Given the description of an element on the screen output the (x, y) to click on. 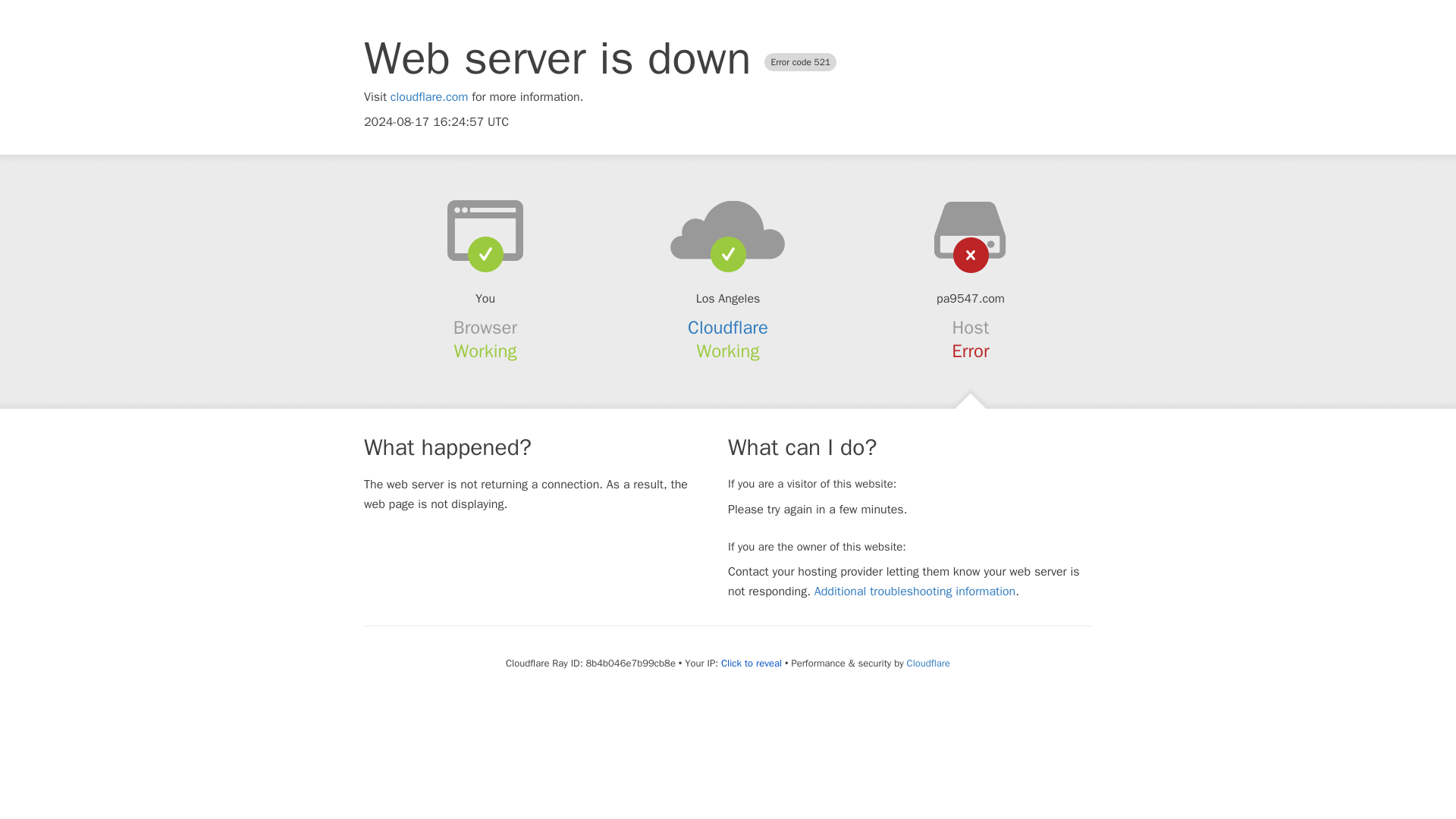
Click to reveal (750, 663)
Cloudflare (727, 327)
Additional troubleshooting information (913, 590)
Cloudflare (928, 662)
cloudflare.com (429, 96)
